Given the description of an element on the screen output the (x, y) to click on. 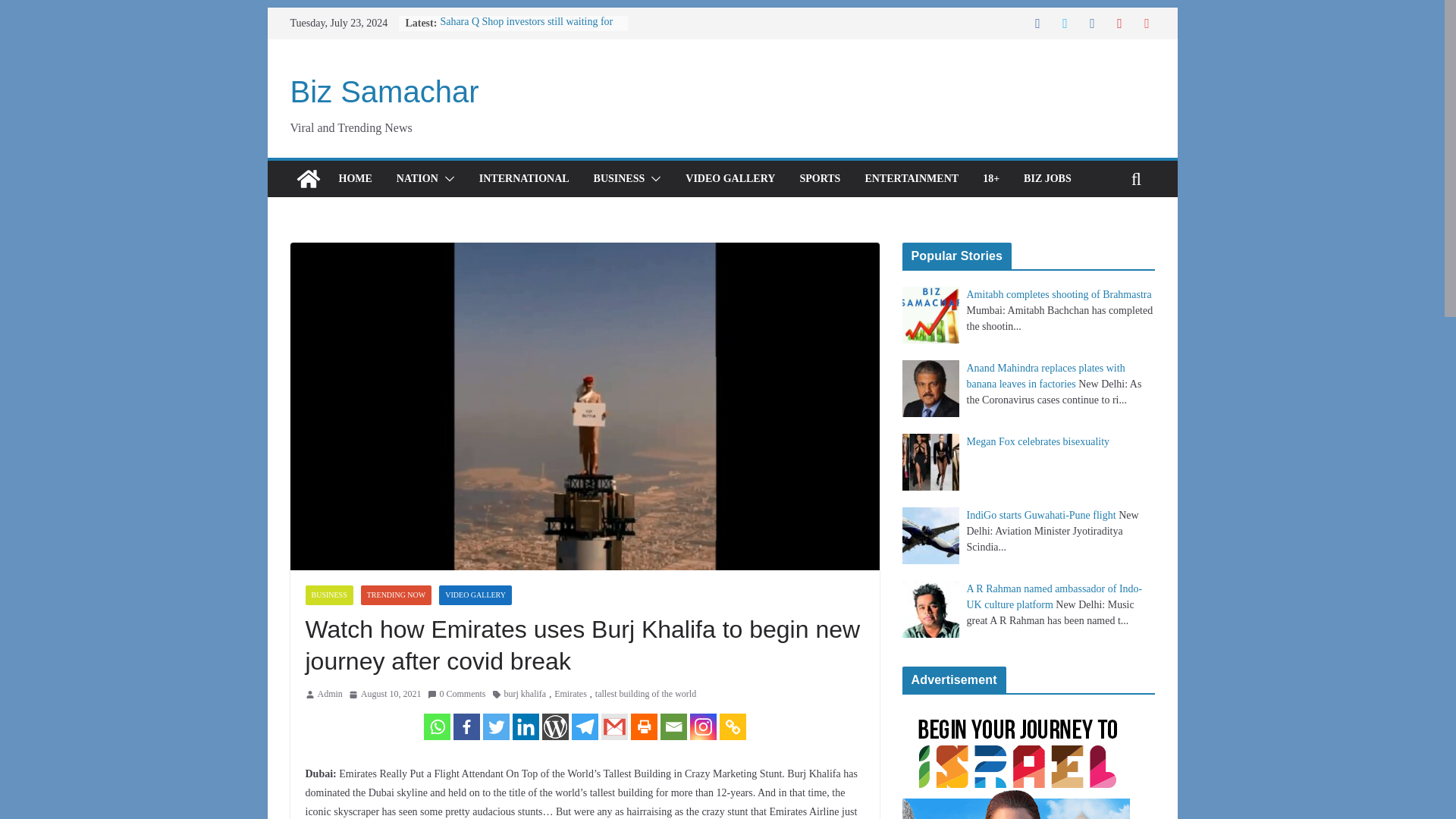
August 10, 2021 (385, 694)
VIDEO GALLERY (729, 178)
Telegram (585, 726)
WordPress (554, 726)
Linkedin (525, 726)
BUSINESS (328, 595)
Admin (329, 694)
tallest building of the world (645, 694)
Admin (329, 694)
NATION (417, 178)
VIDEO GALLERY (475, 595)
Biz Samachar (384, 91)
HOME (354, 178)
Emirates (570, 694)
burj khalifa (525, 694)
